Given the description of an element on the screen output the (x, y) to click on. 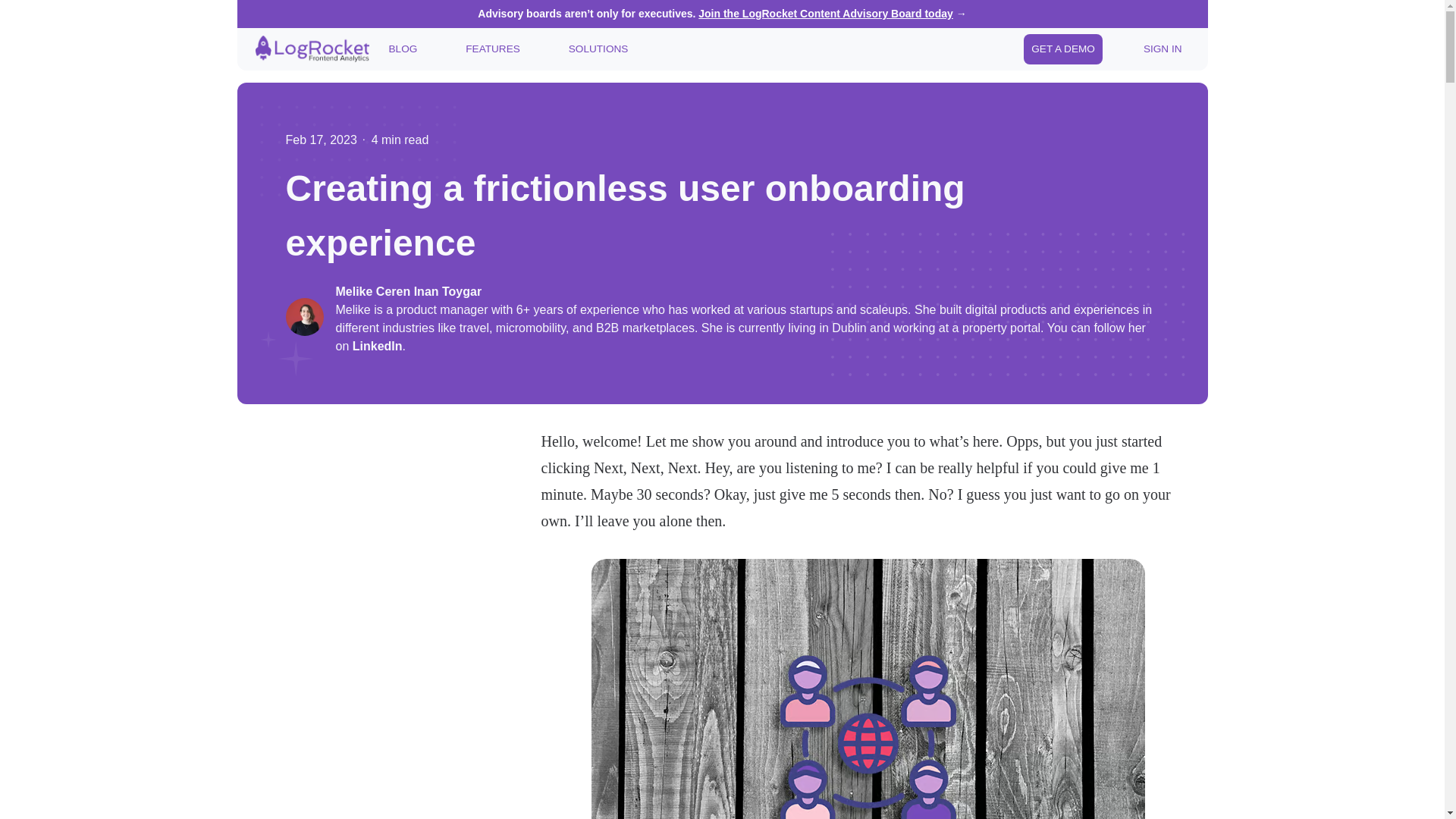
BLOG (402, 49)
LinkedIn (377, 345)
SOLUTIONS (598, 49)
FEATURES (492, 49)
SIGN IN (1162, 49)
Melike Ceren Inan Toygar (746, 291)
GET A DEMO (1062, 49)
